Given the description of an element on the screen output the (x, y) to click on. 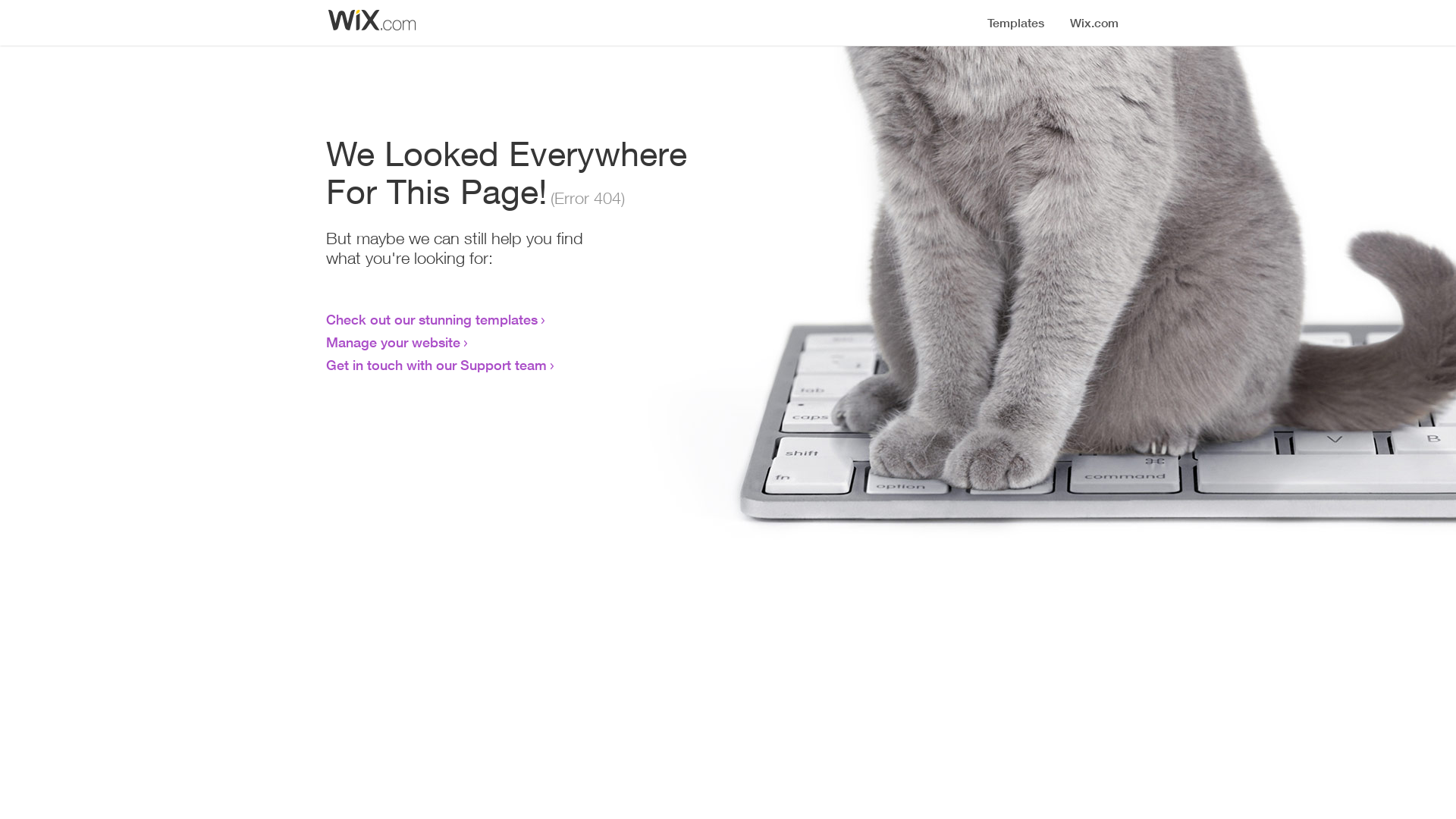
Check out our stunning templates Element type: text (431, 318)
Manage your website Element type: text (393, 341)
Get in touch with our Support team Element type: text (436, 364)
